Given the description of an element on the screen output the (x, y) to click on. 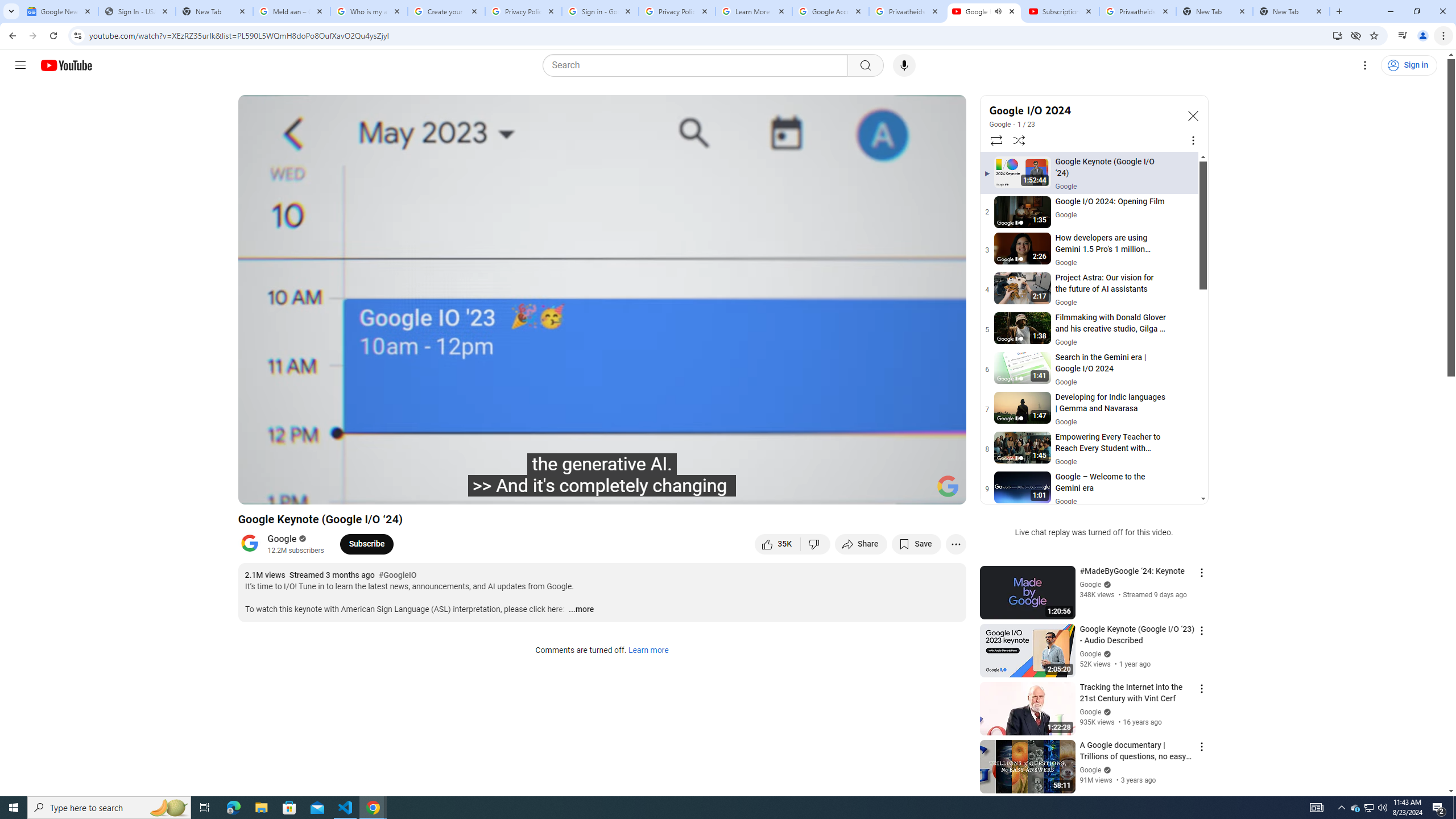
Subscriptions - YouTube (1061, 11)
Google (999, 124)
Google Account (830, 11)
Previous (SHIFT+p) (259, 490)
Channel watermark (947, 486)
Miniplayer (i) (890, 490)
Install YouTube (1336, 35)
Channel watermark (947, 486)
Mute (m) (338, 490)
Show cards (949, 106)
